Given the description of an element on the screen output the (x, y) to click on. 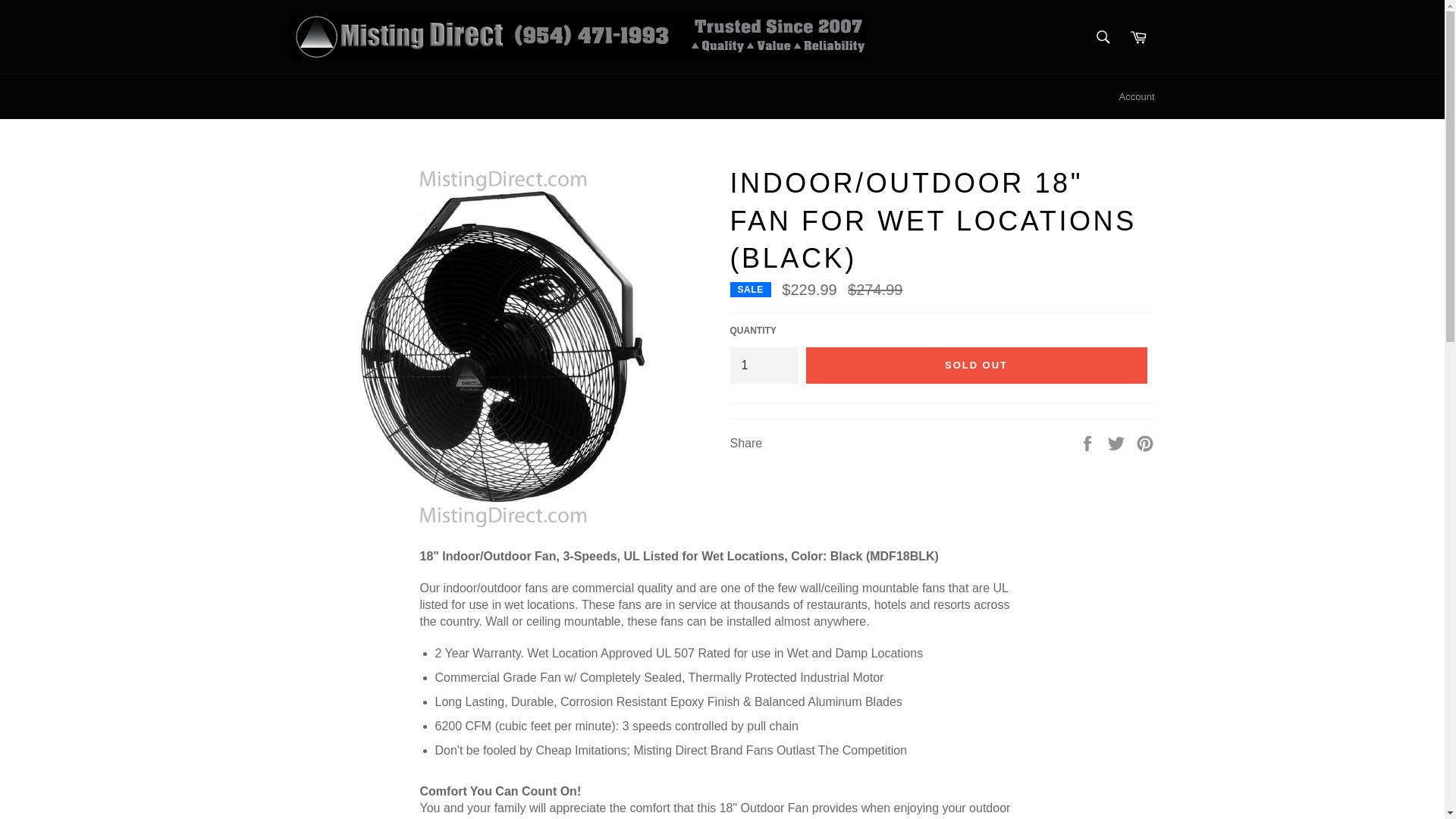
SOLD OUT (976, 365)
Share on Facebook (1088, 441)
Tweet on Twitter (1117, 441)
Tweet on Twitter (1117, 441)
Pin on Pinterest (1144, 441)
Pin on Pinterest (1144, 441)
Search (1103, 37)
Account (1136, 96)
1 (763, 365)
Cart (1138, 37)
Share on Facebook (1088, 441)
